Given the description of an element on the screen output the (x, y) to click on. 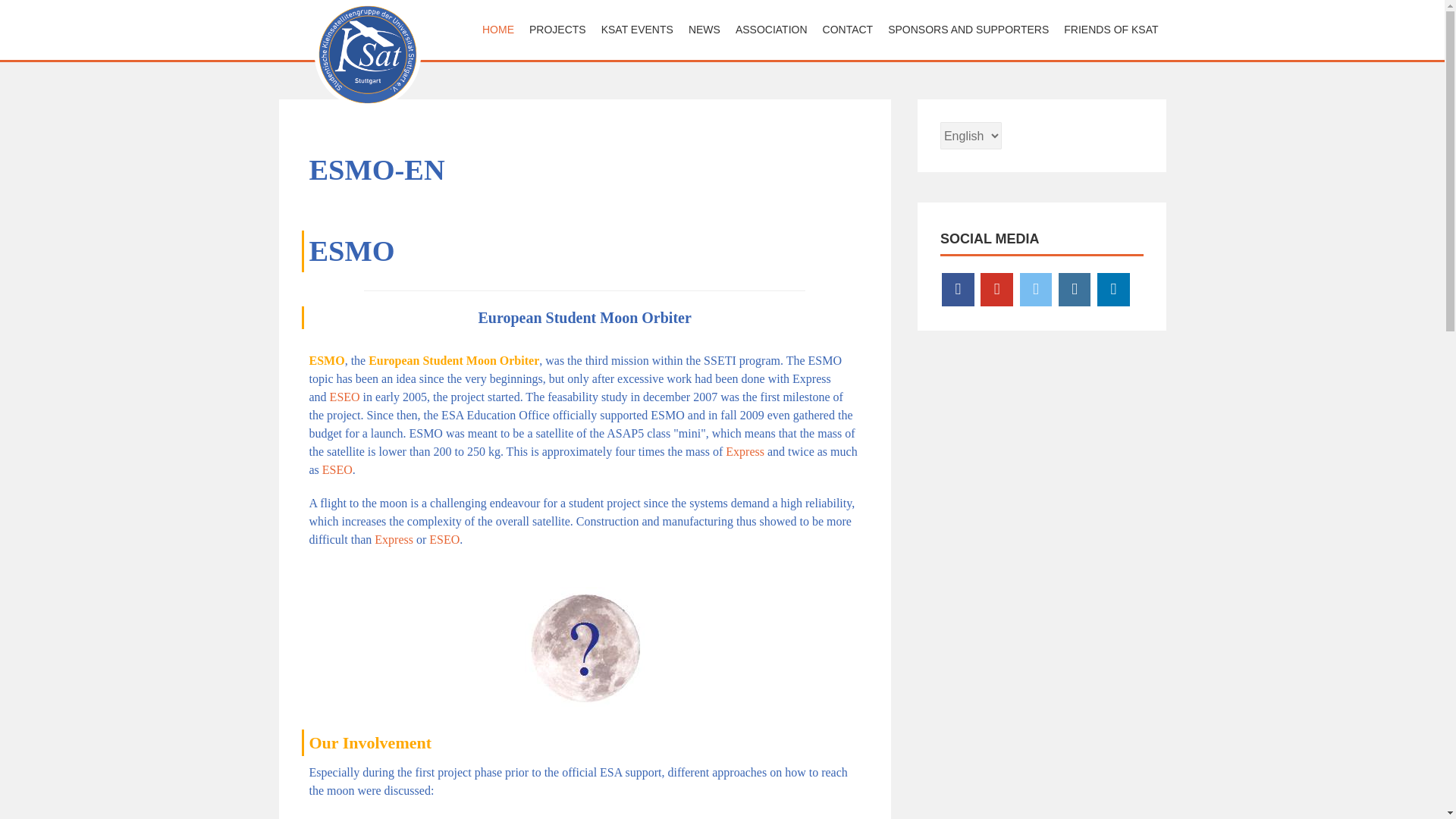
KSat auf YouTube (996, 289)
Express (393, 539)
KSat auf Facebook (958, 289)
KSAT EVENTS (637, 29)
Search (34, 13)
ASSOCIATION (771, 29)
Express (744, 451)
KSat auf Instagram (1074, 289)
PROJECTS (557, 29)
KSat auf Twitter (1036, 289)
NEWS (704, 29)
ESEO (336, 469)
CONTACT (847, 29)
ESEO (344, 396)
SPONSORS AND SUPPORTERS (968, 29)
